Given the description of an element on the screen output the (x, y) to click on. 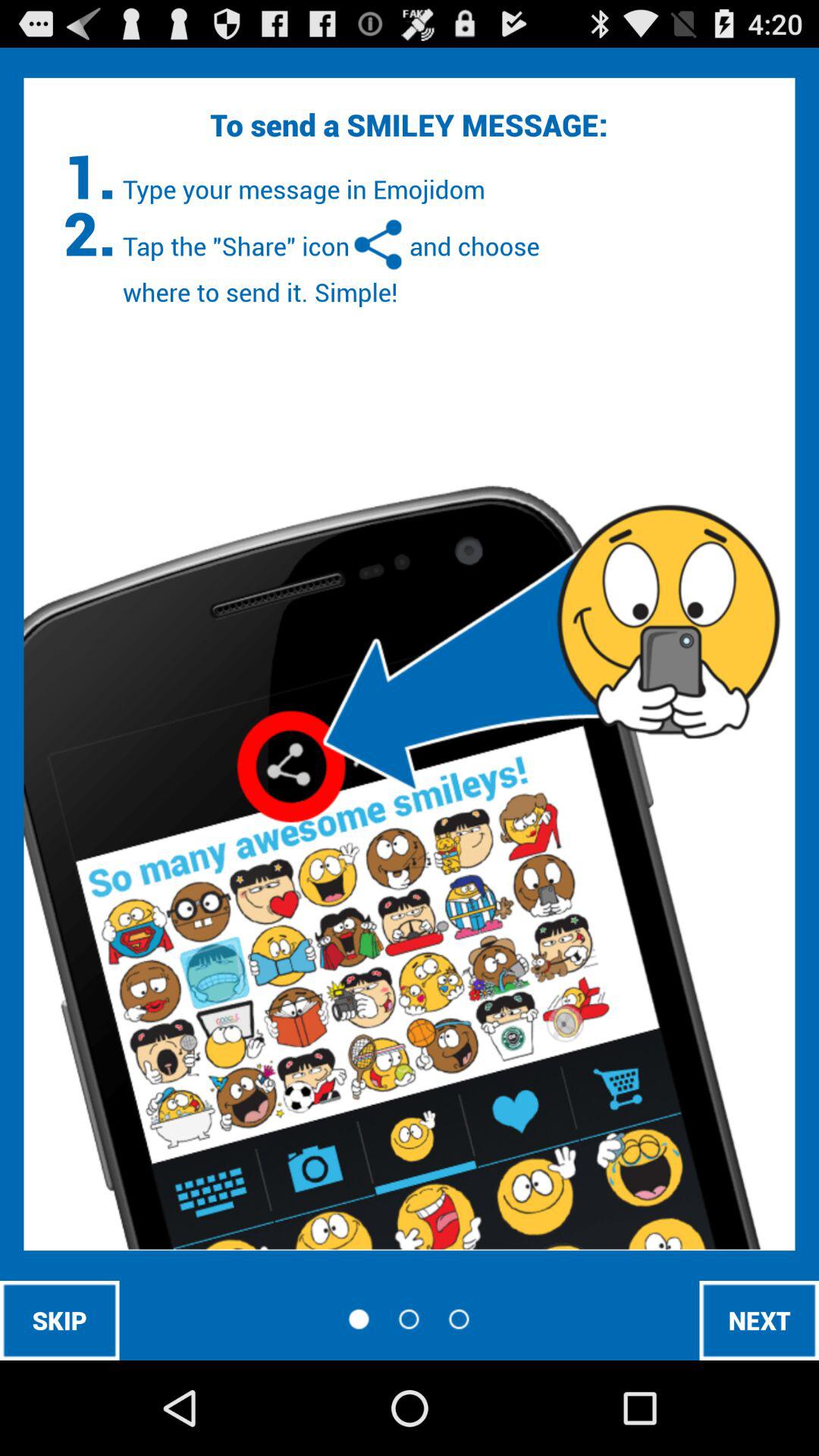
click skip at the bottom left corner (59, 1320)
